Given the description of an element on the screen output the (x, y) to click on. 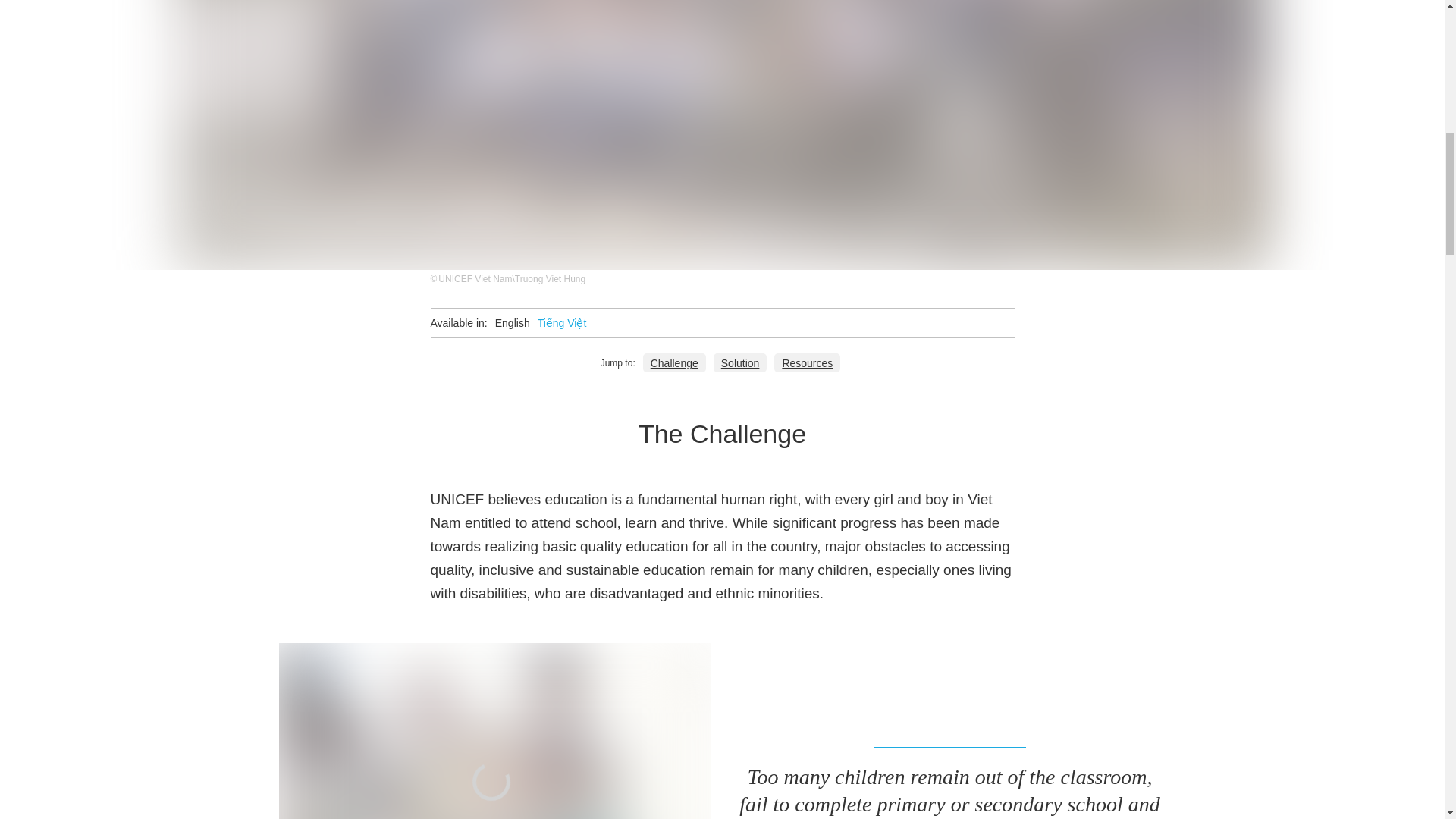
Resources (807, 362)
Solution (740, 362)
Challenge (674, 362)
